Given the description of an element on the screen output the (x, y) to click on. 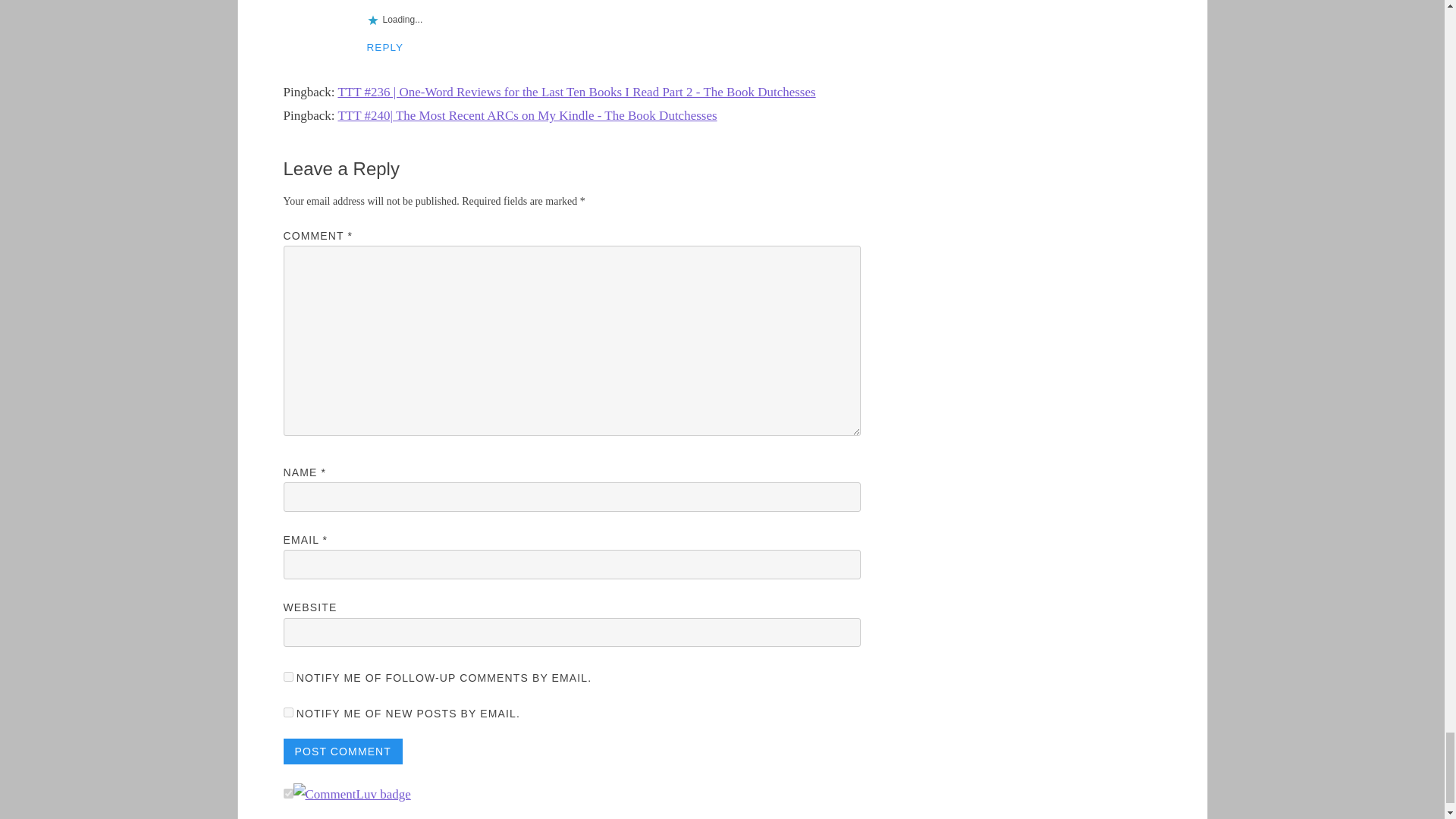
CommentLuv is enabled (351, 794)
on (288, 793)
subscribe (288, 676)
subscribe (288, 712)
Post Comment (343, 751)
